Given the description of an element on the screen output the (x, y) to click on. 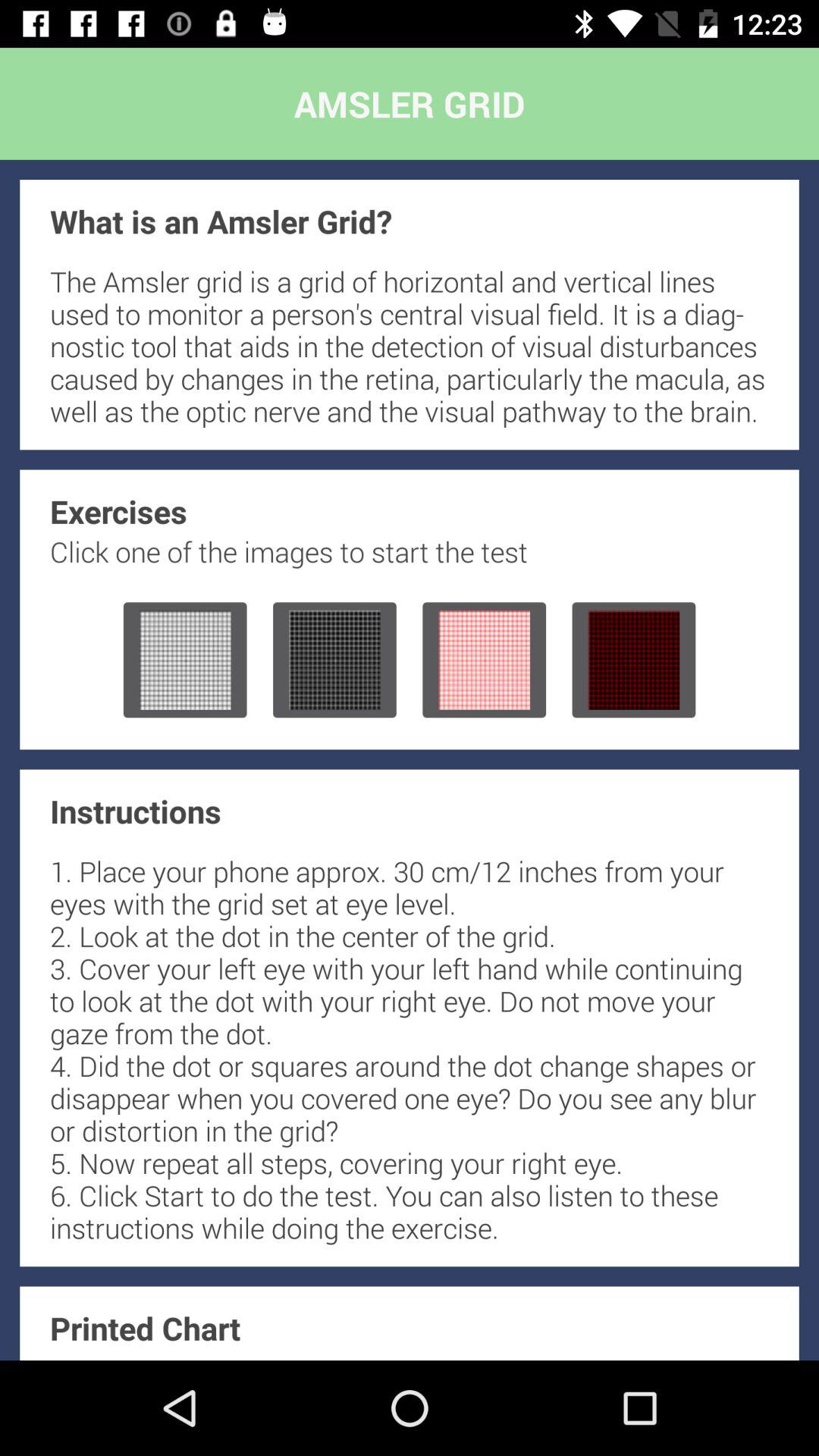
select image button (633, 659)
